Given the description of an element on the screen output the (x, y) to click on. 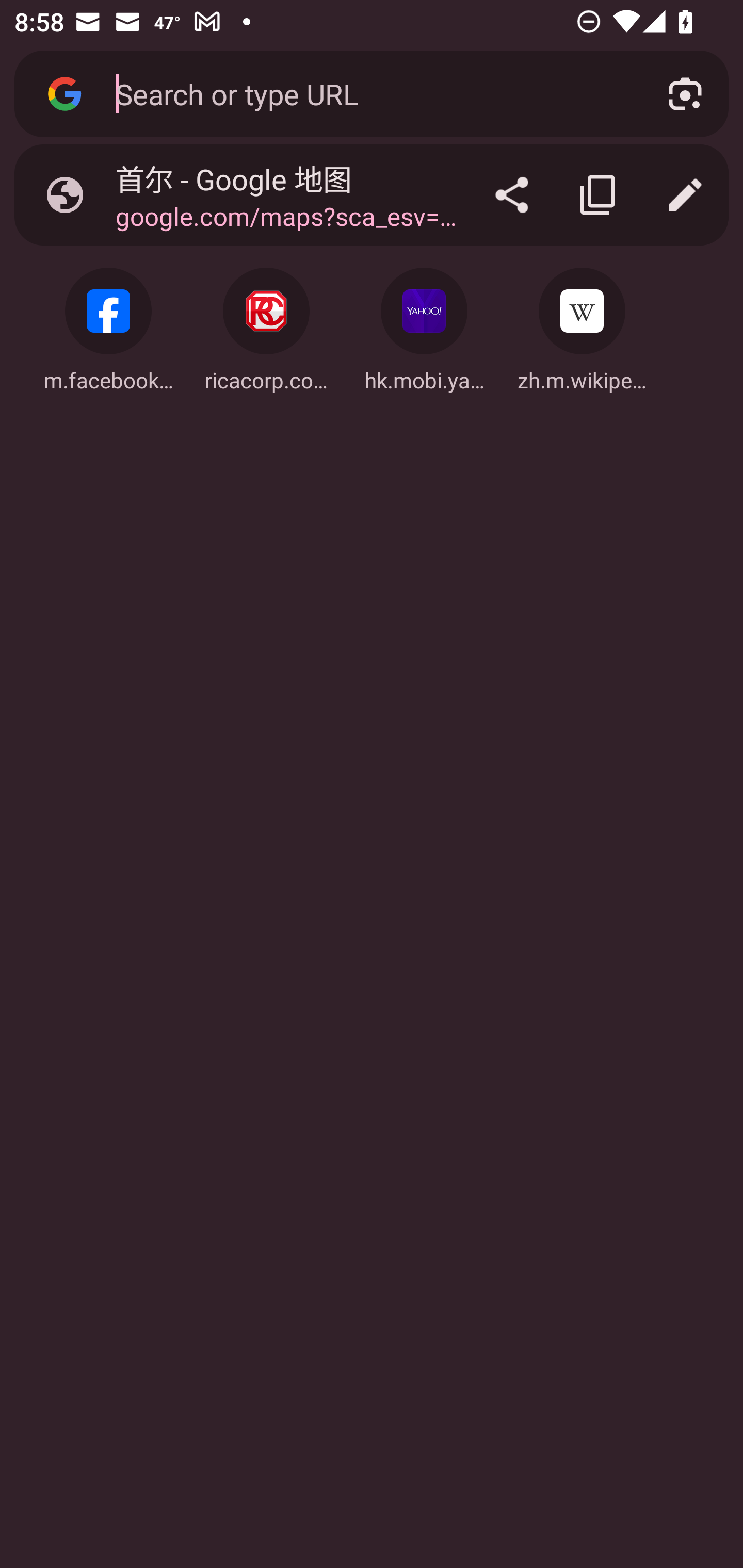
Search with your camera using Google Lens (684, 93)
Search or type URL (367, 92)
Share… (511, 195)
Copy link (598, 195)
Edit (684, 195)
